Given the description of an element on the screen output the (x, y) to click on. 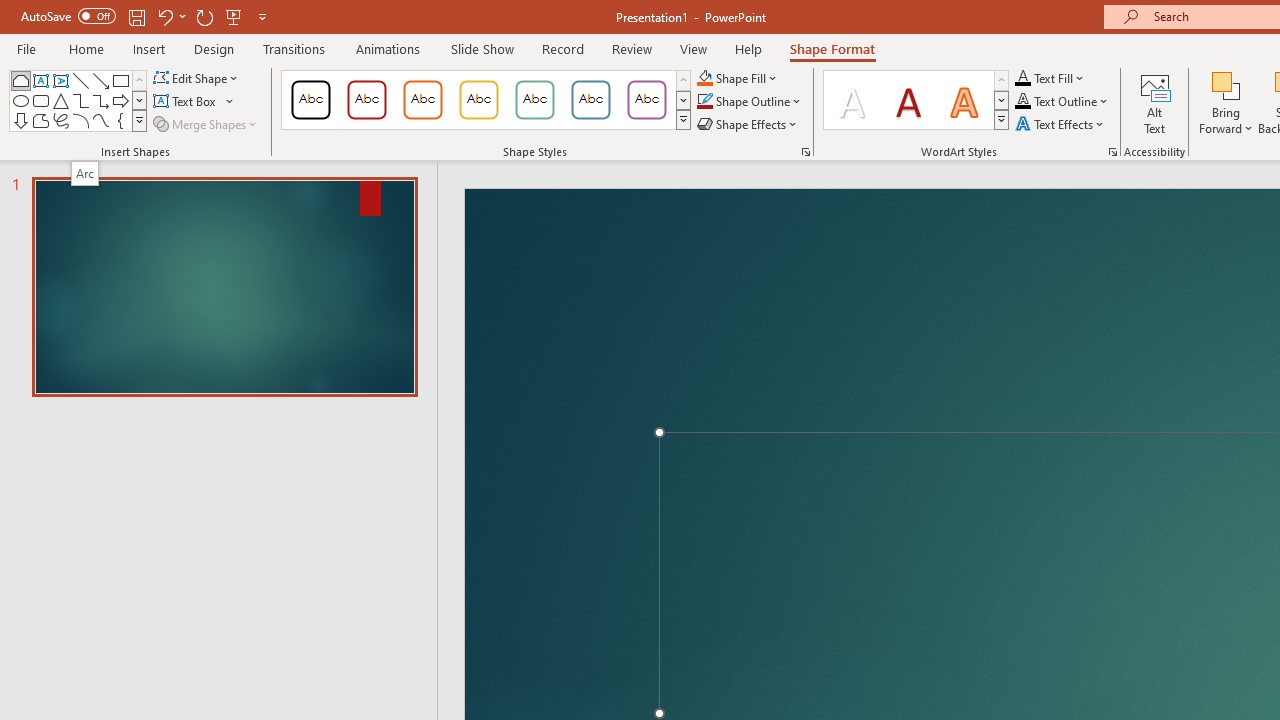
Rectangle: Top Corners Snipped (20, 80)
Colored Outline - Orange, Accent 2 (422, 100)
Text Fill (1050, 78)
